Given the description of an element on the screen output the (x, y) to click on. 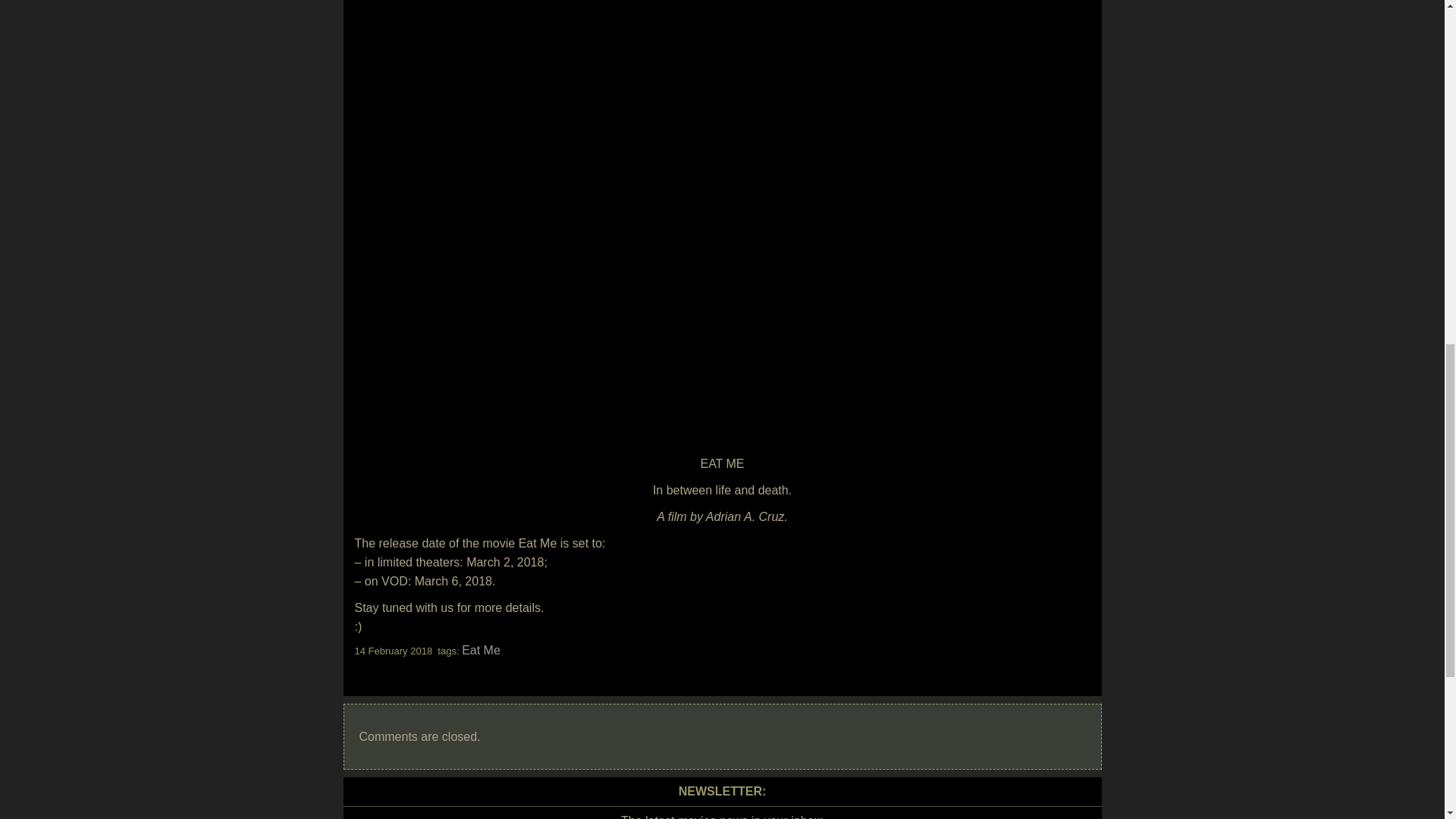
Eat Me (480, 649)
